Given the description of an element on the screen output the (x, y) to click on. 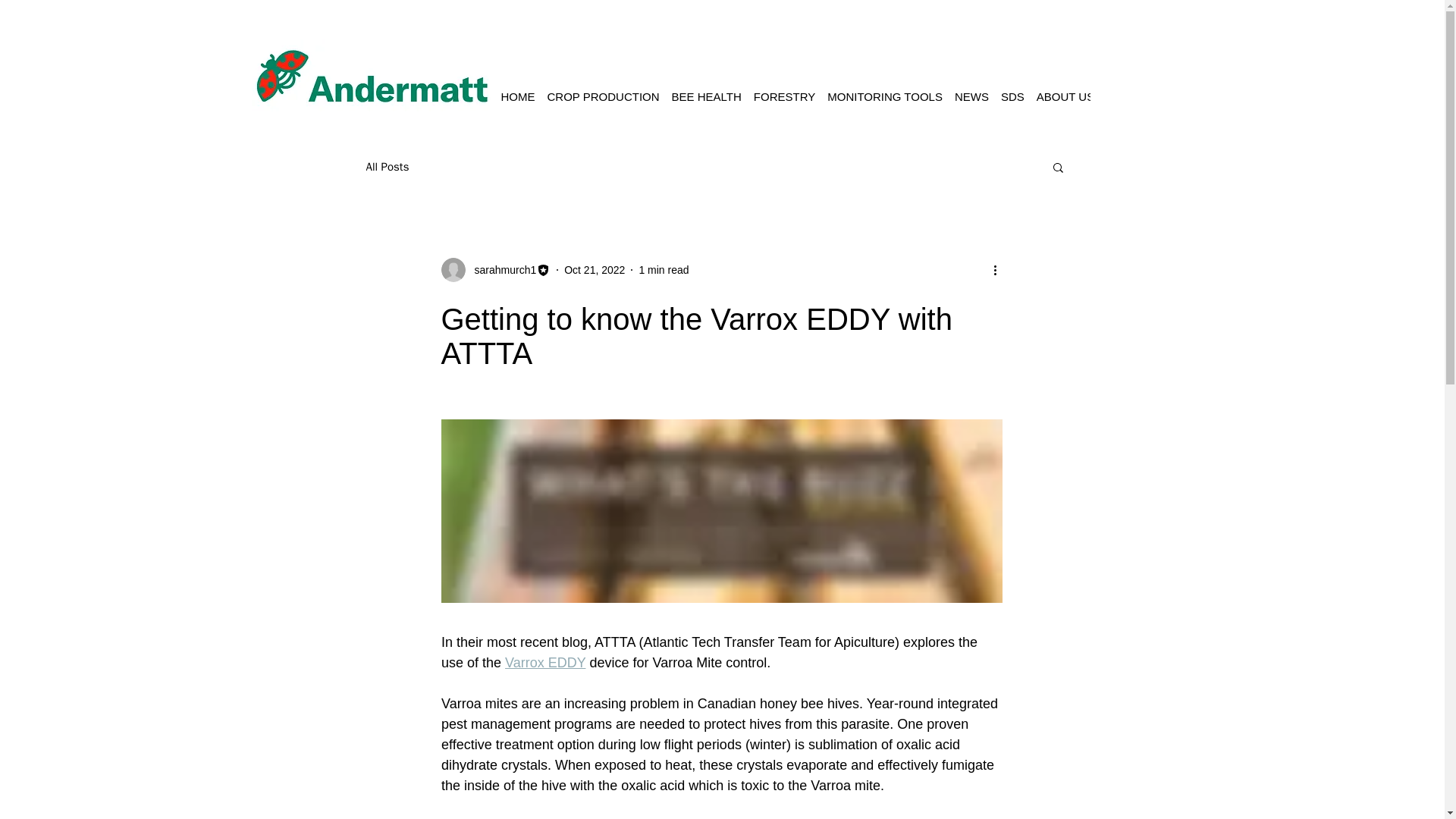
BEE HEALTH (706, 96)
NEWS (971, 96)
FORESTRY (784, 96)
Oct 21, 2022 (594, 269)
1 min read (663, 269)
MONITORING TOOLS (885, 96)
ABOUT US (1065, 96)
HOME (517, 96)
sarahmurch1 (501, 270)
SDS (1012, 96)
